Given the description of an element on the screen output the (x, y) to click on. 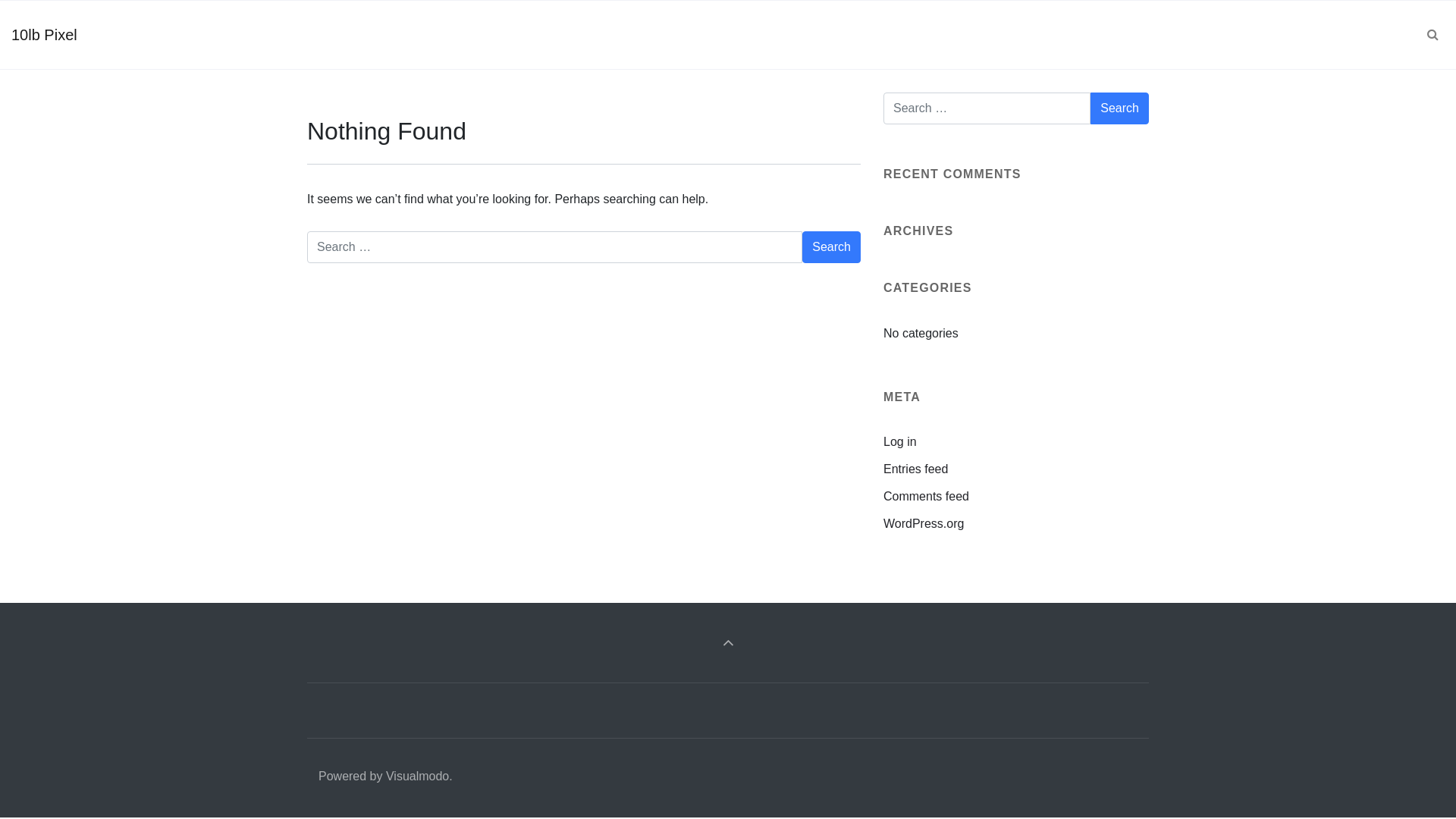
10lb Pixel Element type: text (44, 34)
WordPress.org Element type: text (923, 523)
Search Element type: text (1119, 108)
Log in Element type: text (899, 441)
Entries feed Element type: text (915, 468)
Comments feed Element type: text (926, 495)
Search Element type: text (831, 247)
